Given the description of an element on the screen output the (x, y) to click on. 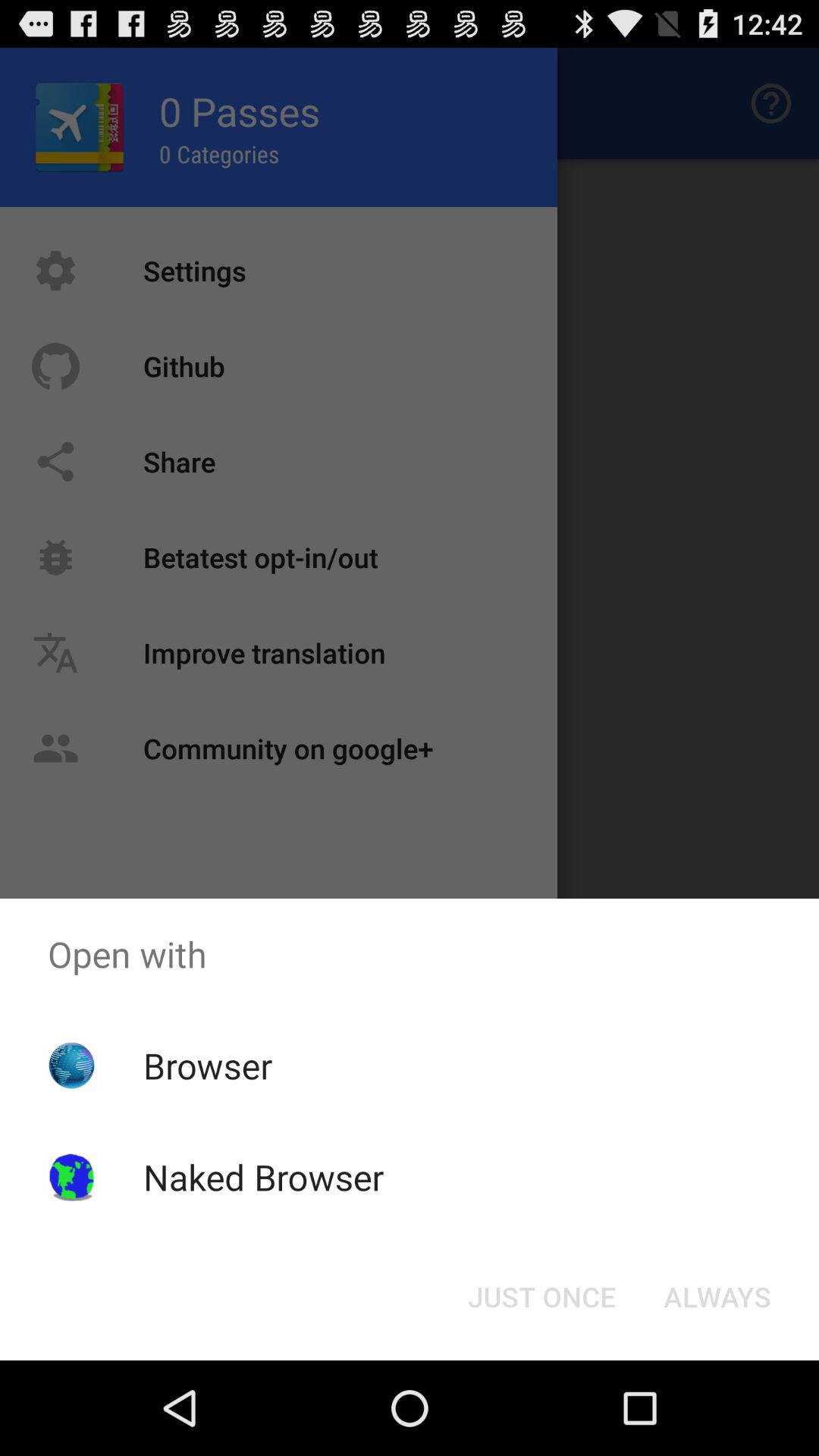
select icon below browser icon (263, 1176)
